Given the description of an element on the screen output the (x, y) to click on. 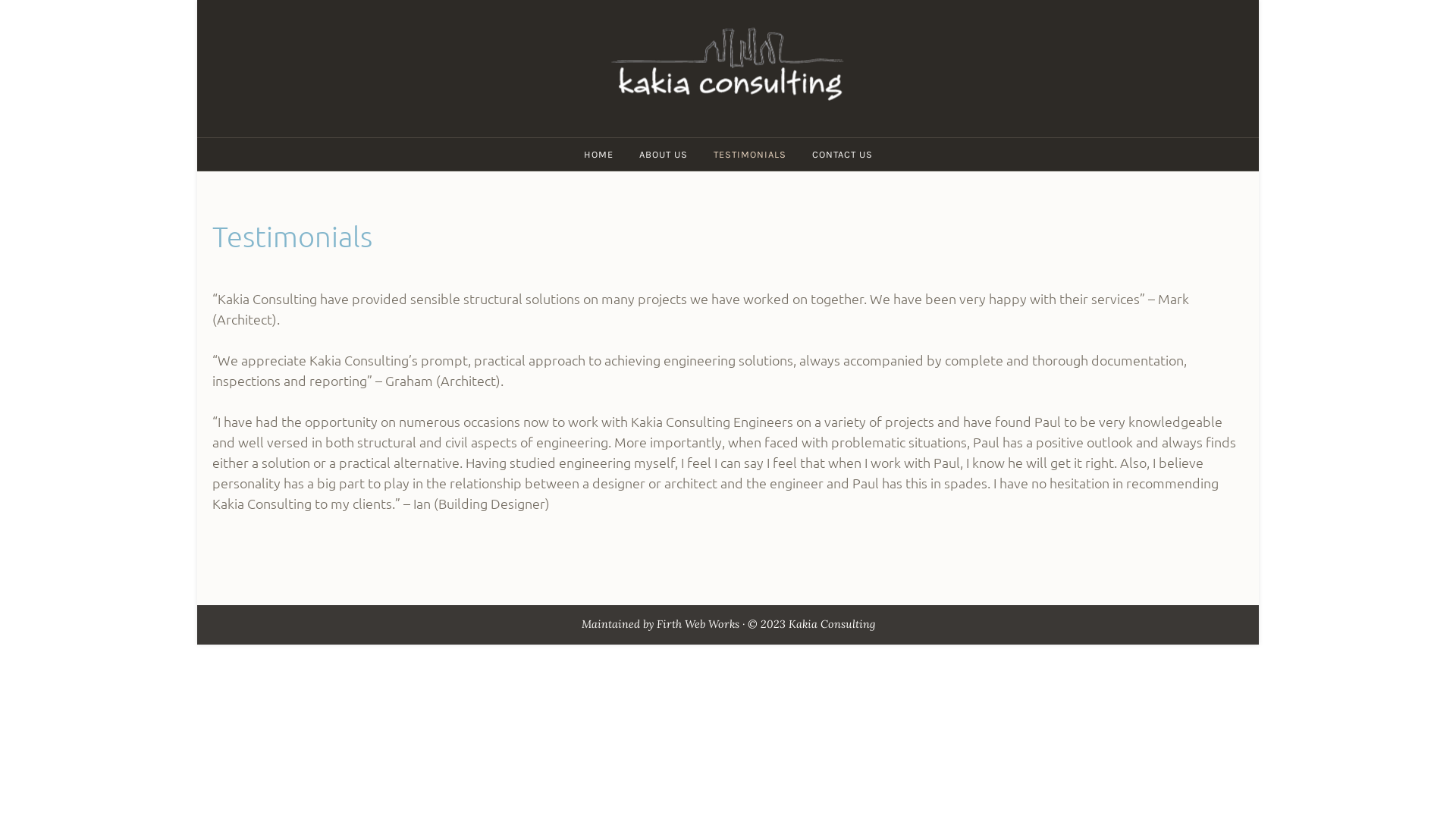
KAKIA CONSULTING Element type: text (788, 142)
ABOUT US Element type: text (663, 154)
TESTIMONIALS Element type: text (749, 154)
Maintained by Firth Web Works Element type: text (659, 623)
CONTACT US Element type: text (842, 154)
HOME Element type: text (597, 154)
